Given the description of an element on the screen output the (x, y) to click on. 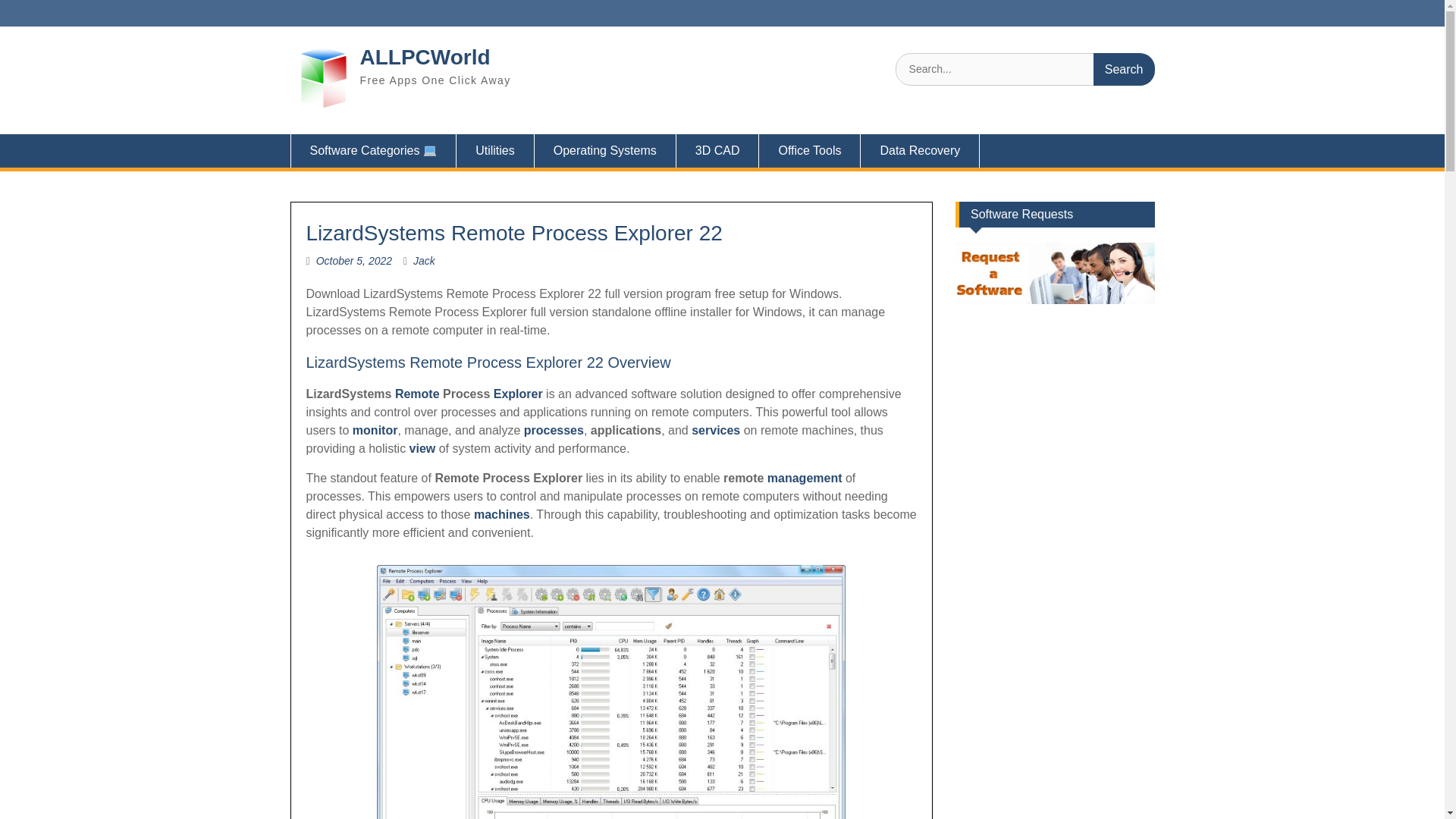
Data Recovery (919, 150)
Operating Systems (605, 150)
October 5, 2022 (353, 260)
view (422, 448)
Explorer (518, 393)
management (805, 477)
Search (1123, 69)
Software Categories (373, 150)
services (717, 430)
Jack (424, 260)
machines (501, 513)
processes (553, 430)
Office Tools (809, 150)
Search for: (1024, 69)
Search (1123, 69)
